Given the description of an element on the screen output the (x, y) to click on. 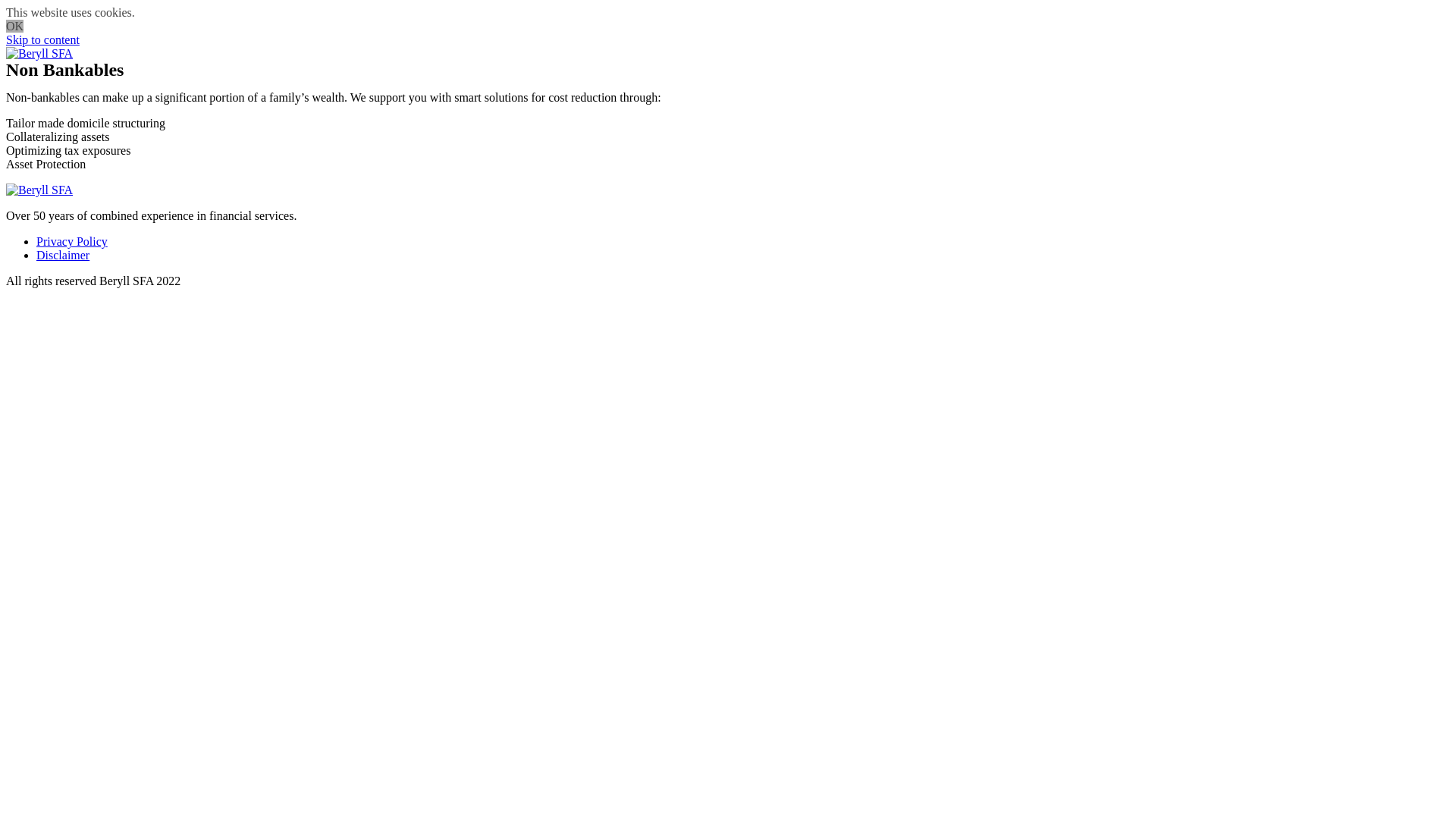
Privacy Policy Element type: text (71, 241)
OK Element type: text (14, 25)
Skip to content Element type: text (42, 39)
Disclaimer Element type: text (62, 254)
